Given the description of an element on the screen output the (x, y) to click on. 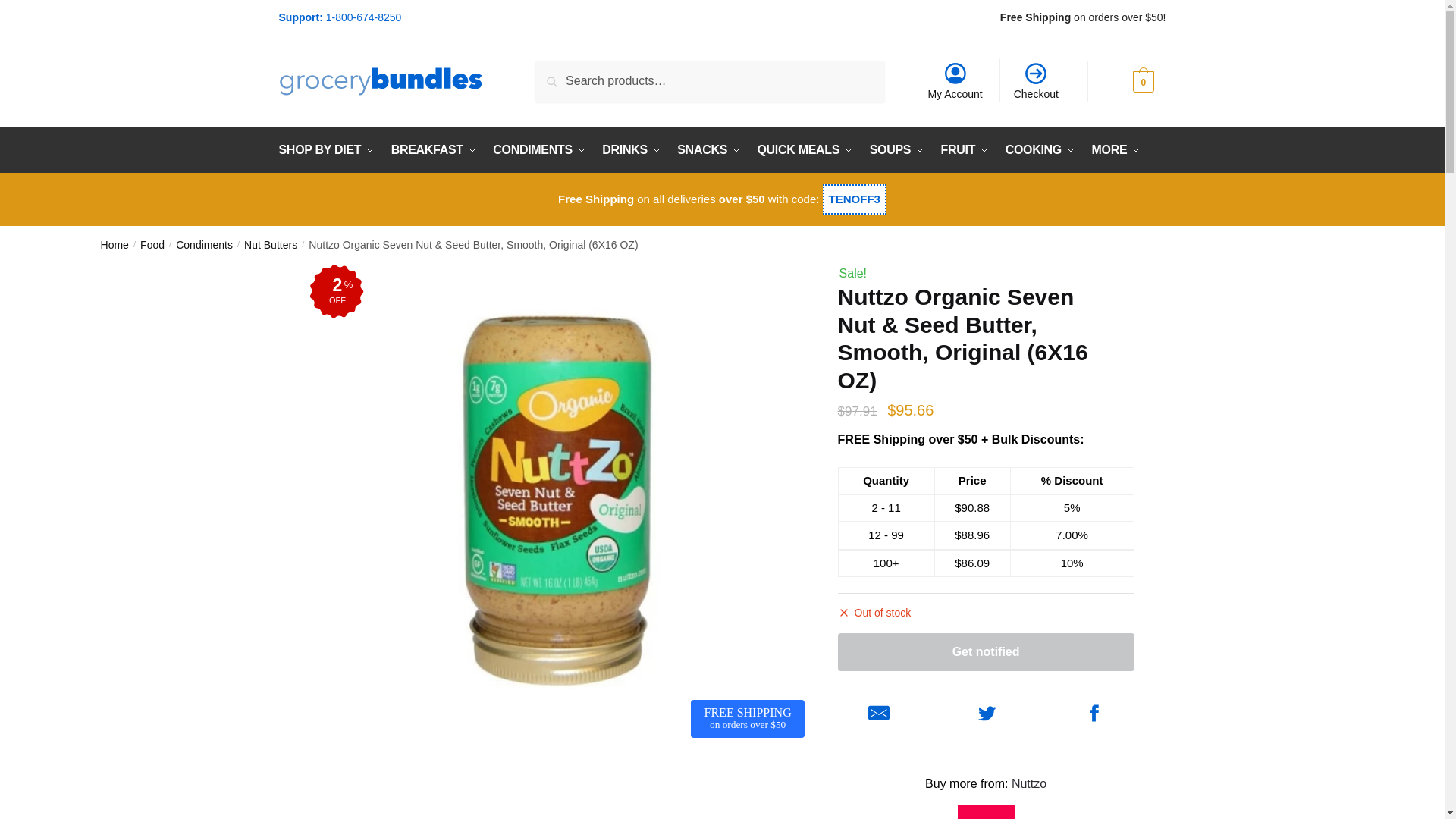
BREAKFAST (434, 149)
Skip to navigation (48, 9)
My Account (954, 80)
Skip to content (954, 80)
CONDIMENTS (40, 9)
Checkout (1035, 80)
My Account (539, 149)
Support: 1-800-674-8250 (1035, 73)
